Given the description of an element on the screen output the (x, y) to click on. 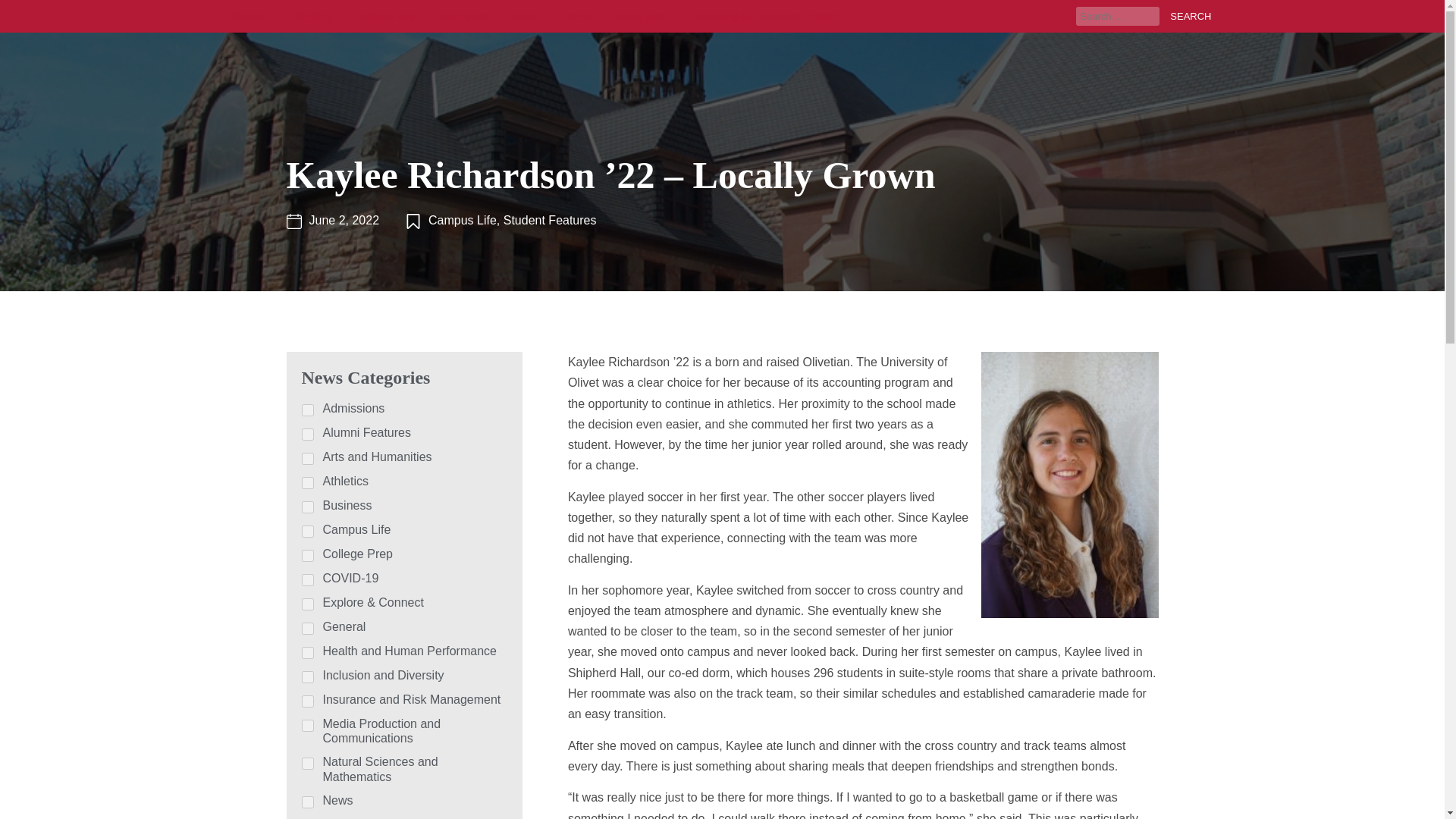
MyOlivet (249, 16)
55 (307, 507)
45 (307, 555)
Search (1186, 15)
41 (307, 628)
39 (307, 531)
194 (307, 604)
44 (307, 482)
50 (307, 458)
Search (1186, 15)
46 (307, 701)
159 (307, 434)
197 (307, 410)
53 (307, 653)
172 (307, 676)
